Given the description of an element on the screen output the (x, y) to click on. 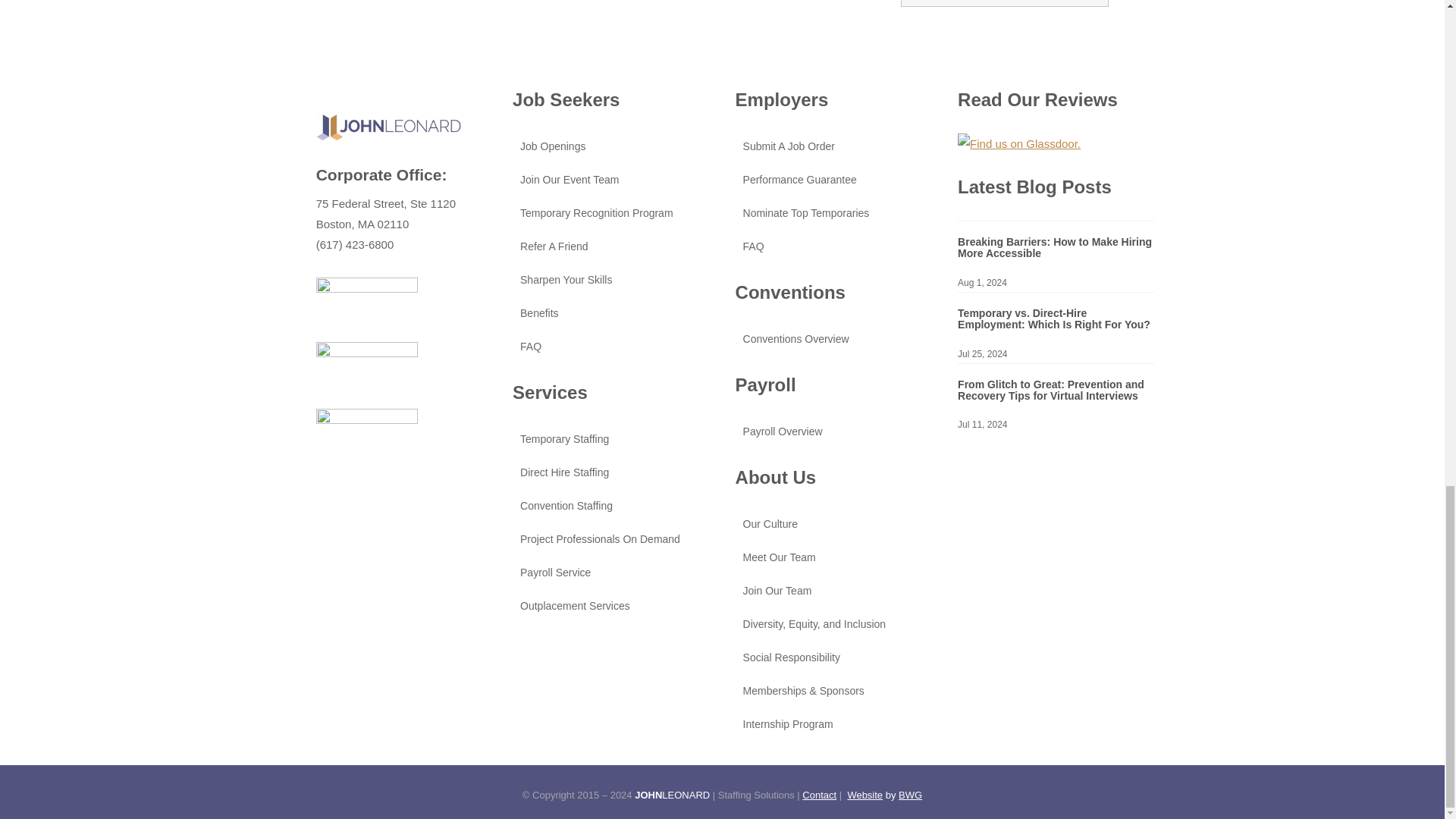
Boston Website Design (864, 794)
logo header (388, 126)
footer-sdo (366, 367)
